Given the description of an element on the screen output the (x, y) to click on. 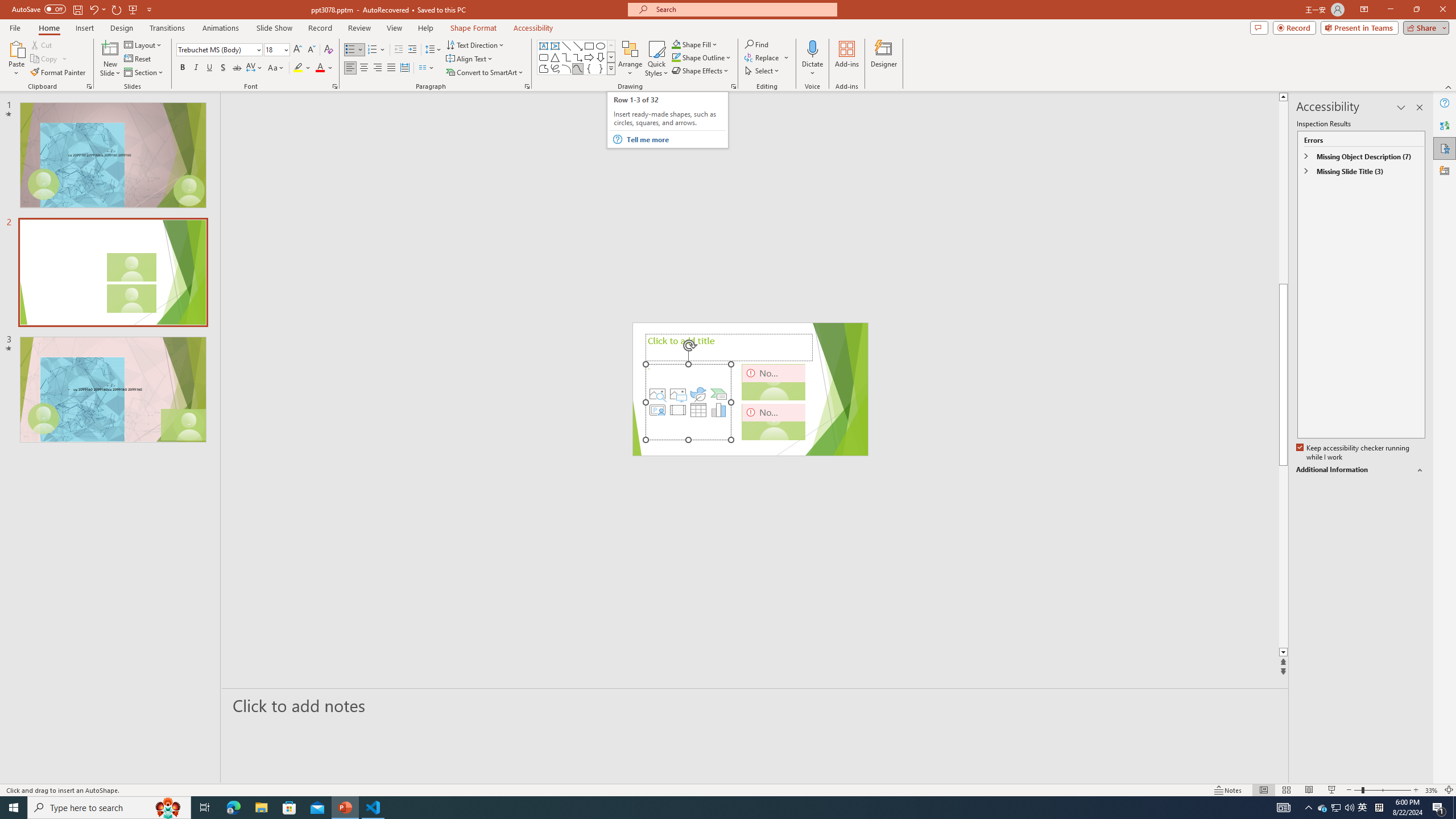
Camera 3, No camera detected. (773, 421)
